Given the description of an element on the screen output the (x, y) to click on. 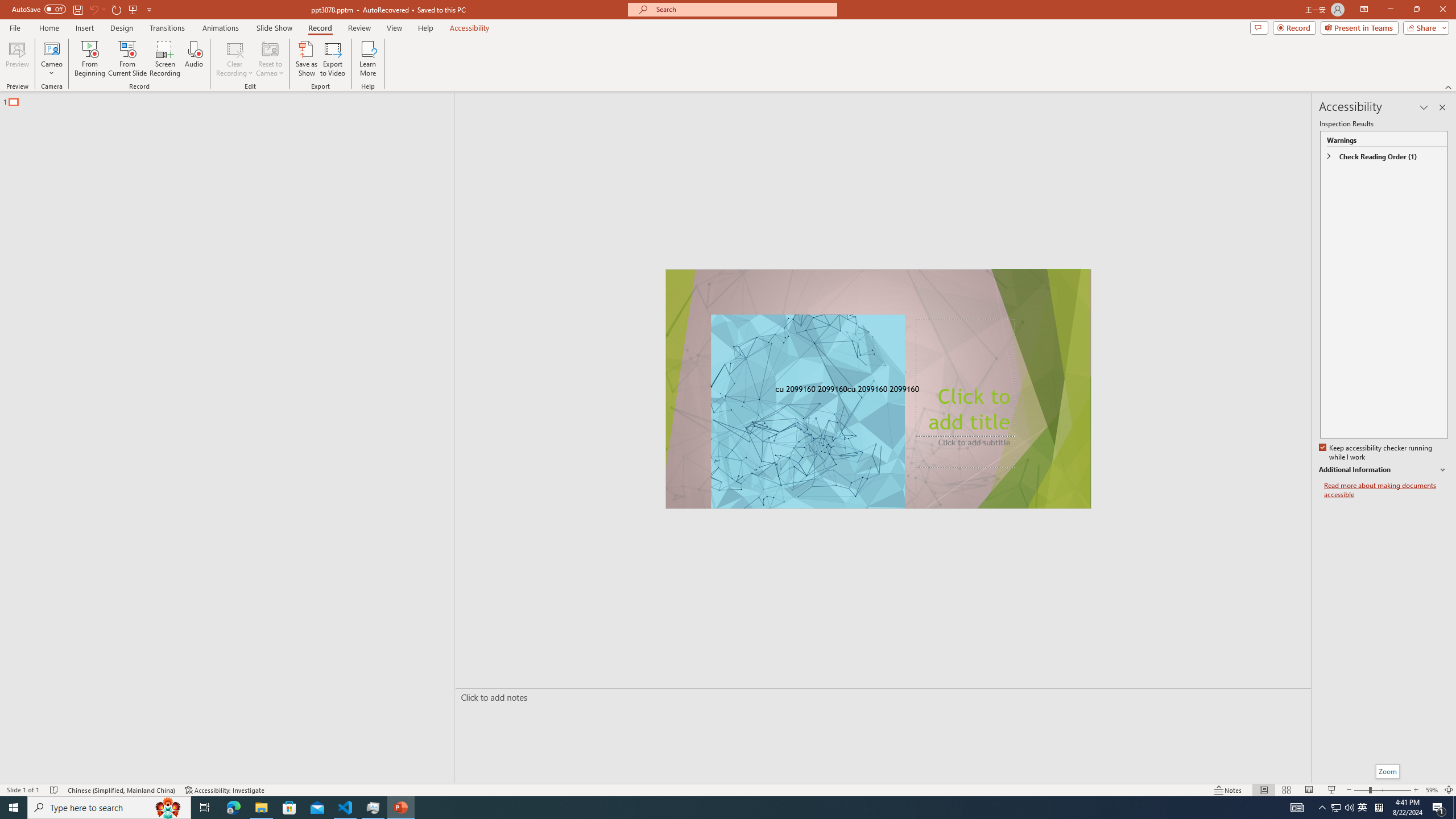
TextBox 61 (877, 389)
